Given the description of an element on the screen output the (x, y) to click on. 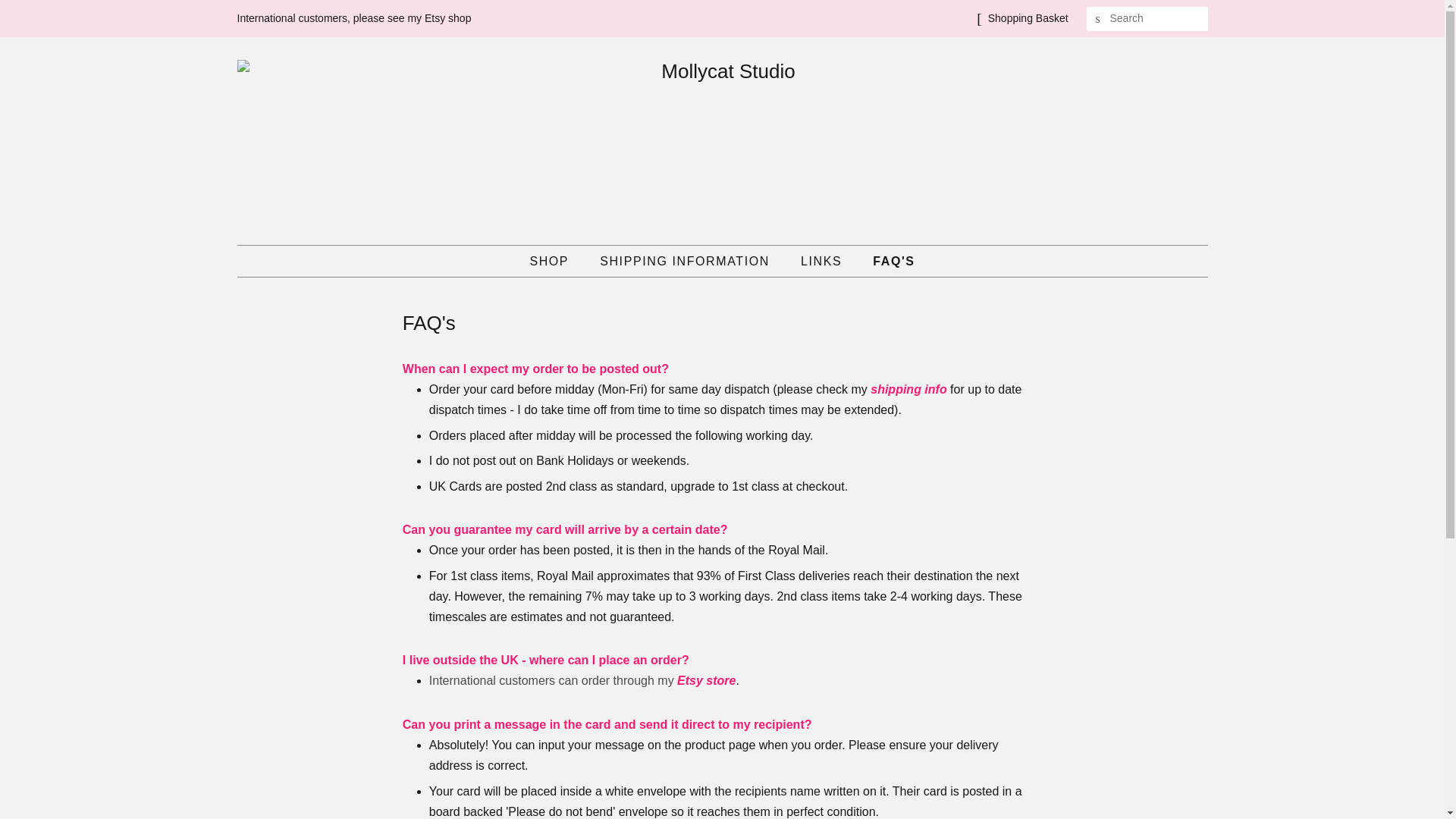
Mollycat Studio Etsy shop (582, 680)
shipping info (908, 389)
LINKS (823, 260)
FAQ'S (887, 260)
SHIPPING INFORMATION (686, 260)
Shopping Basket (1028, 18)
SEARCH (1097, 18)
International customers can order through my Etsy store (582, 680)
SHOP (556, 260)
Shipping information (908, 389)
International customers, please see my Etsy shop (352, 18)
